Given the description of an element on the screen output the (x, y) to click on. 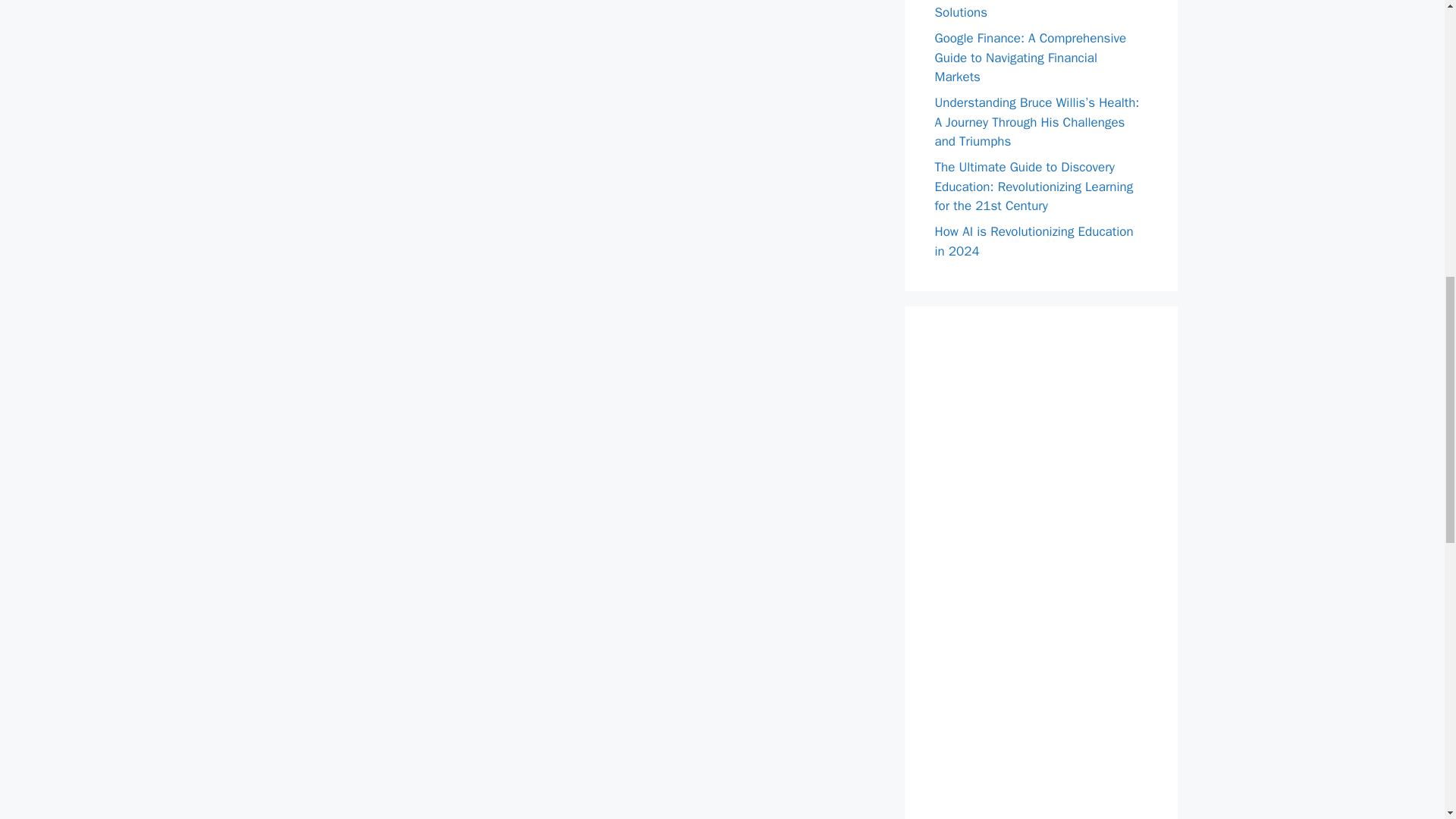
How AI is Revolutionizing Education in 2024 (1033, 241)
